Given the description of an element on the screen output the (x, y) to click on. 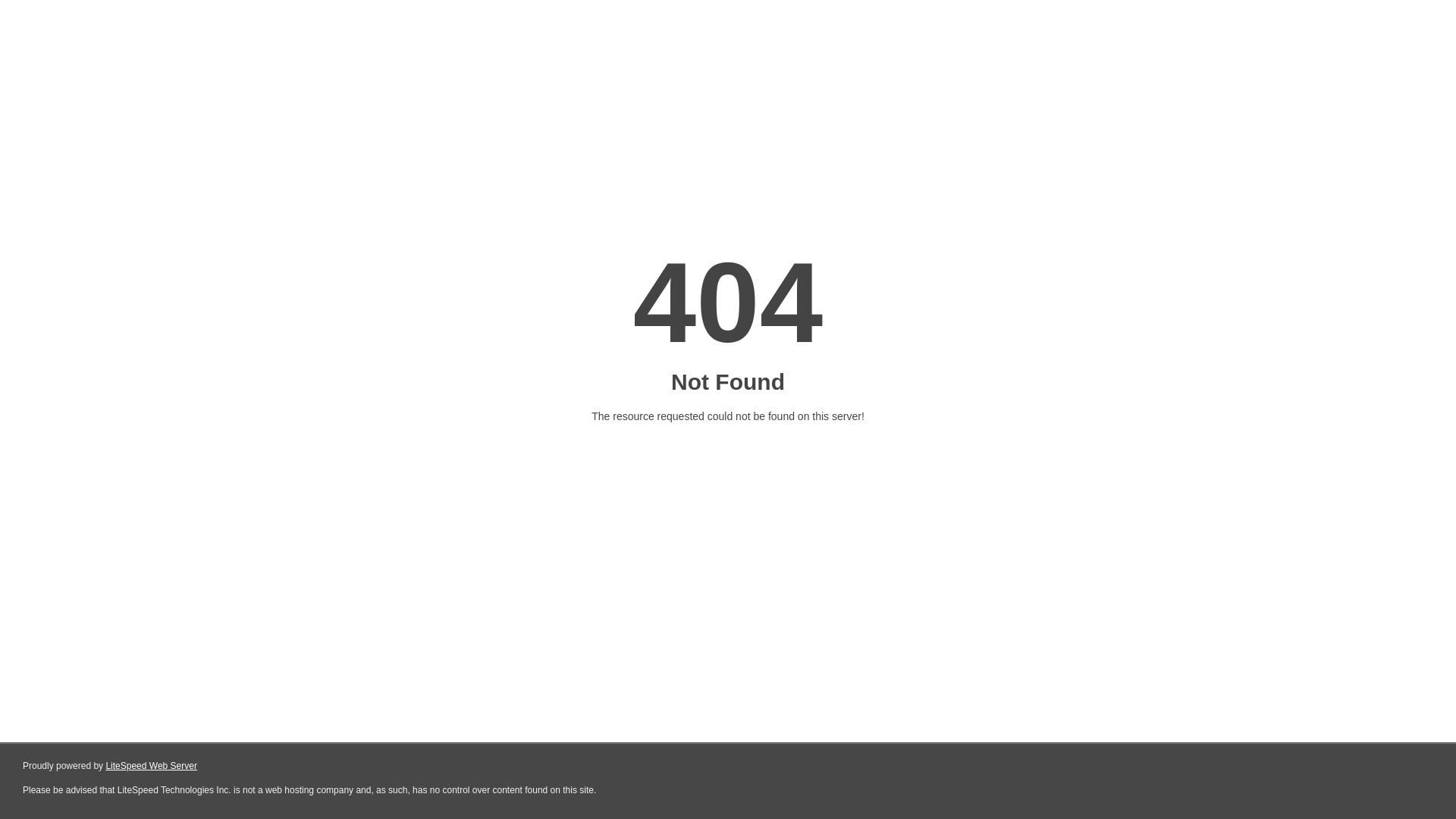
LiteSpeed Web Server Element type: text (151, 765)
